Given the description of an element on the screen output the (x, y) to click on. 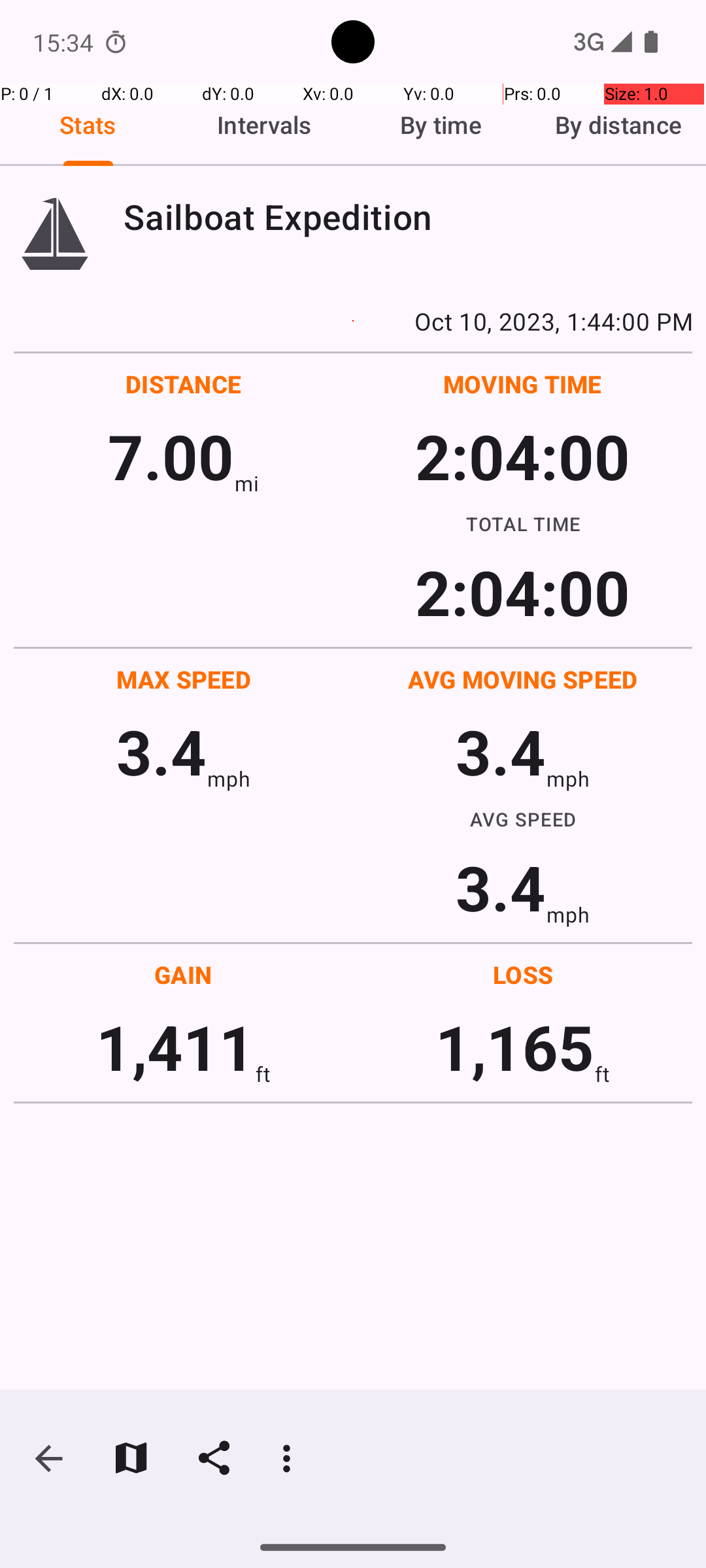
Sailboat Expedition Element type: android.widget.TextView (407, 216)
Oct 10, 2023, 1:44:00 PM Element type: android.widget.TextView (352, 320)
7.00 Element type: android.widget.TextView (170, 455)
2:04:00 Element type: android.widget.TextView (522, 455)
3.4 Element type: android.widget.TextView (161, 750)
1,411 Element type: android.widget.TextView (175, 1045)
1,165 Element type: android.widget.TextView (514, 1045)
